Given the description of an element on the screen output the (x, y) to click on. 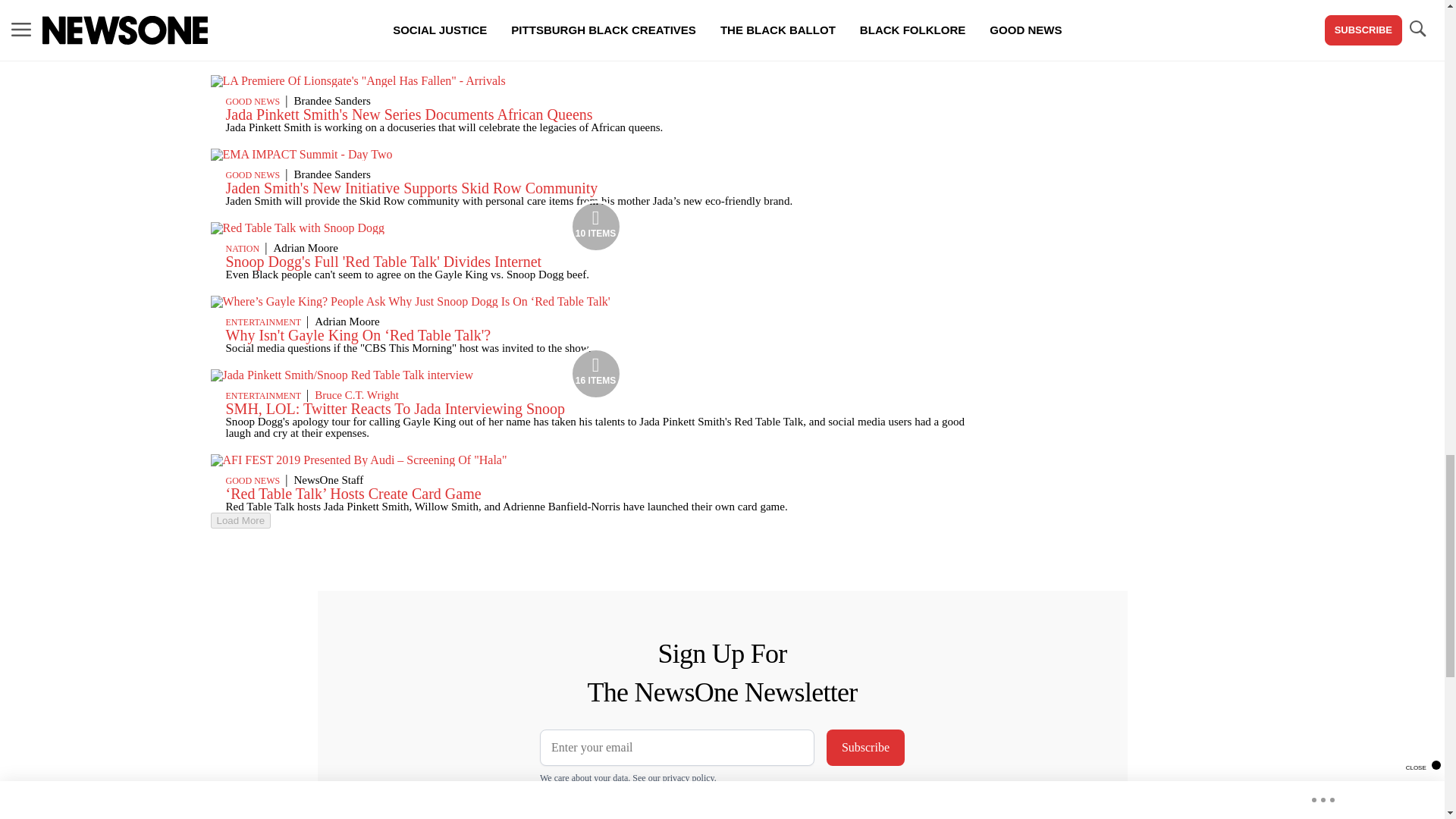
Jada Pinkett Smith's New Series Documents African Queens (408, 114)
10 ITEMS (298, 227)
GOOD NEWS (253, 101)
NATION (242, 248)
Keenan "HIGz" Higgins (370, 15)
GOOD NEWS (253, 174)
Load More (596, 520)
Load More (240, 520)
Media Playlist (596, 226)
Will Smith Gets Honest About Monogamy (354, 29)
ENTERTAINMENT (263, 16)
Media Playlist (596, 373)
Jaden Smith's New Initiative Supports Skid Row Community (411, 187)
